Given the description of an element on the screen output the (x, y) to click on. 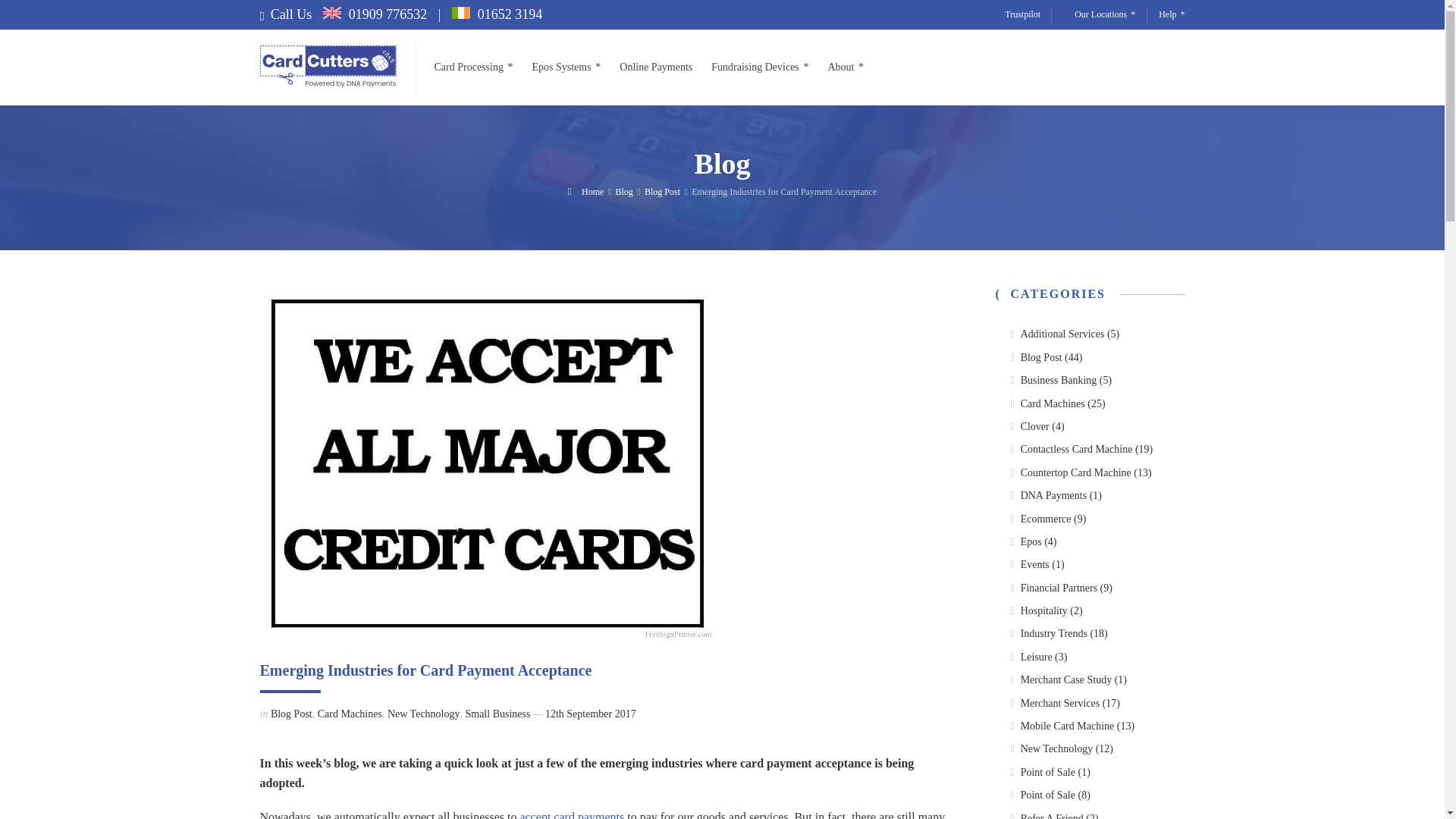
Epos Systems (566, 67)
Card Cutters (327, 67)
01652 3194 (497, 14)
Online Payments (655, 67)
Our Locations (1104, 14)
Card Processing (477, 67)
Help (1166, 14)
Trustpilot (1022, 14)
01909 776532 (375, 14)
